Given the description of an element on the screen output the (x, y) to click on. 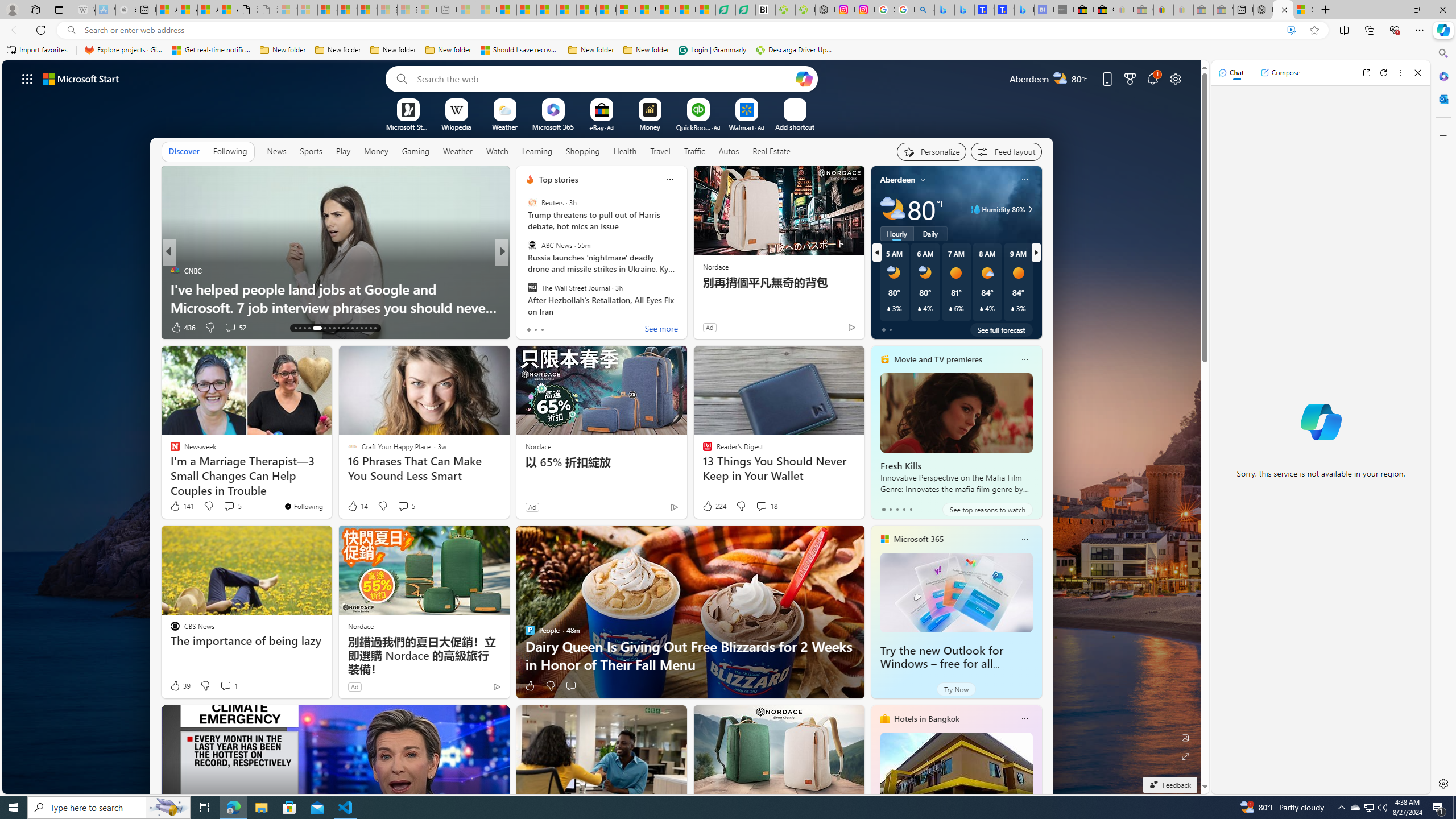
AutomationID: tab-22 (343, 328)
Ash & Pri (524, 270)
AutomationID: tab-40 (370, 328)
Live Science (524, 270)
Chip Chick (524, 270)
